Given the description of an element on the screen output the (x, y) to click on. 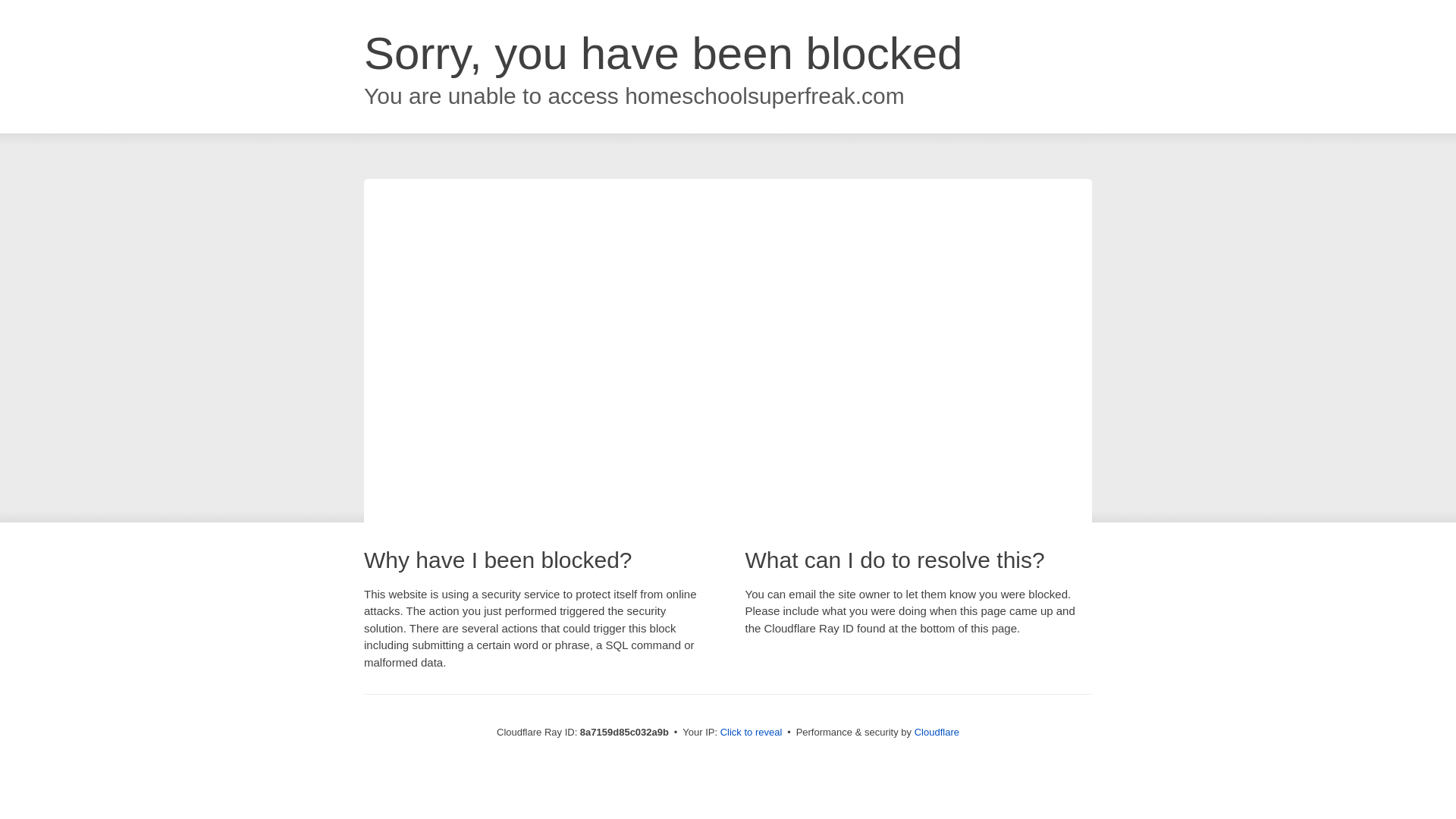
Cloudflare (936, 731)
Click to reveal (751, 732)
